Given the description of an element on the screen output the (x, y) to click on. 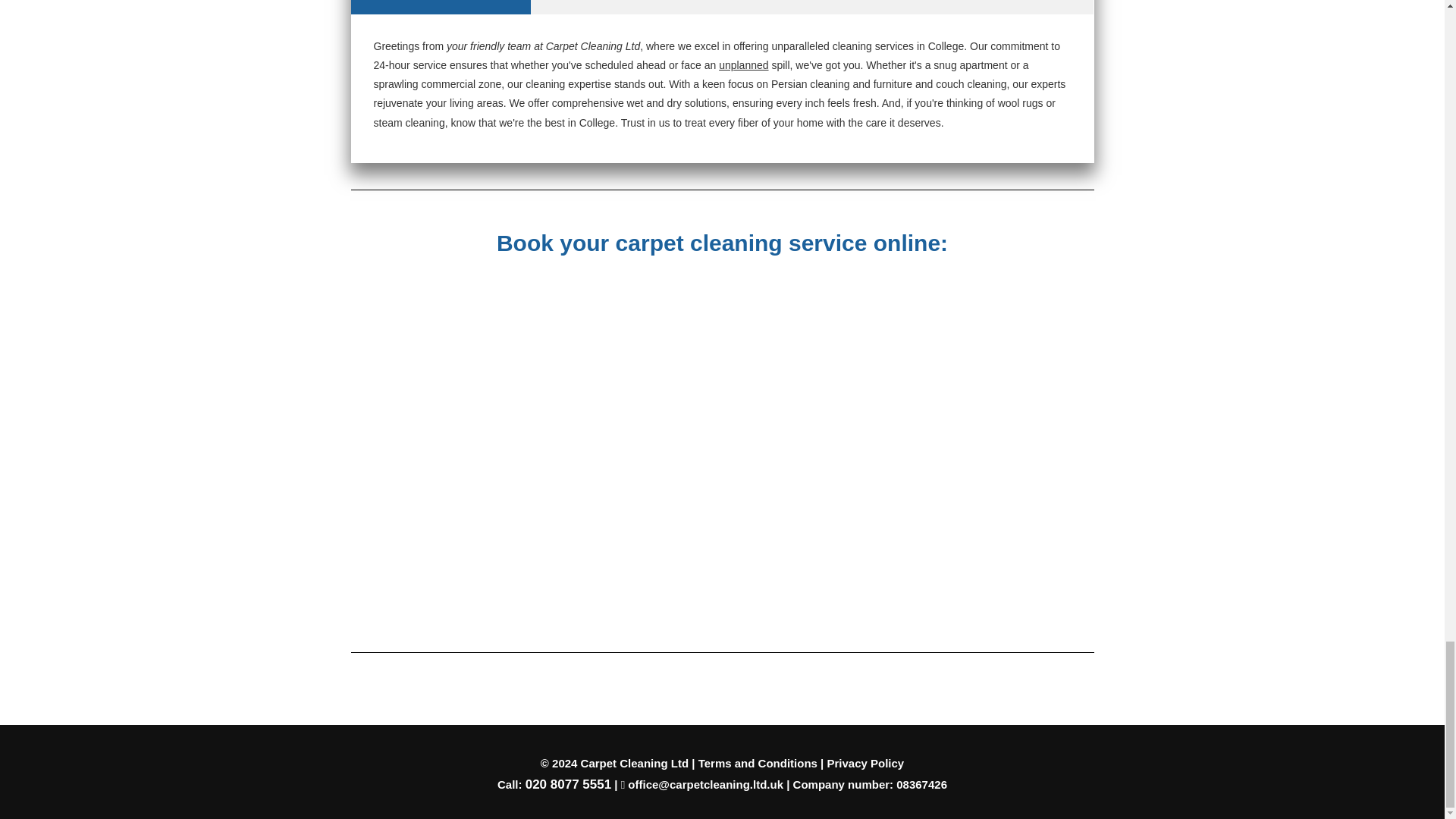
Carpet Cleaning Ltd (634, 762)
